Given the description of an element on the screen output the (x, y) to click on. 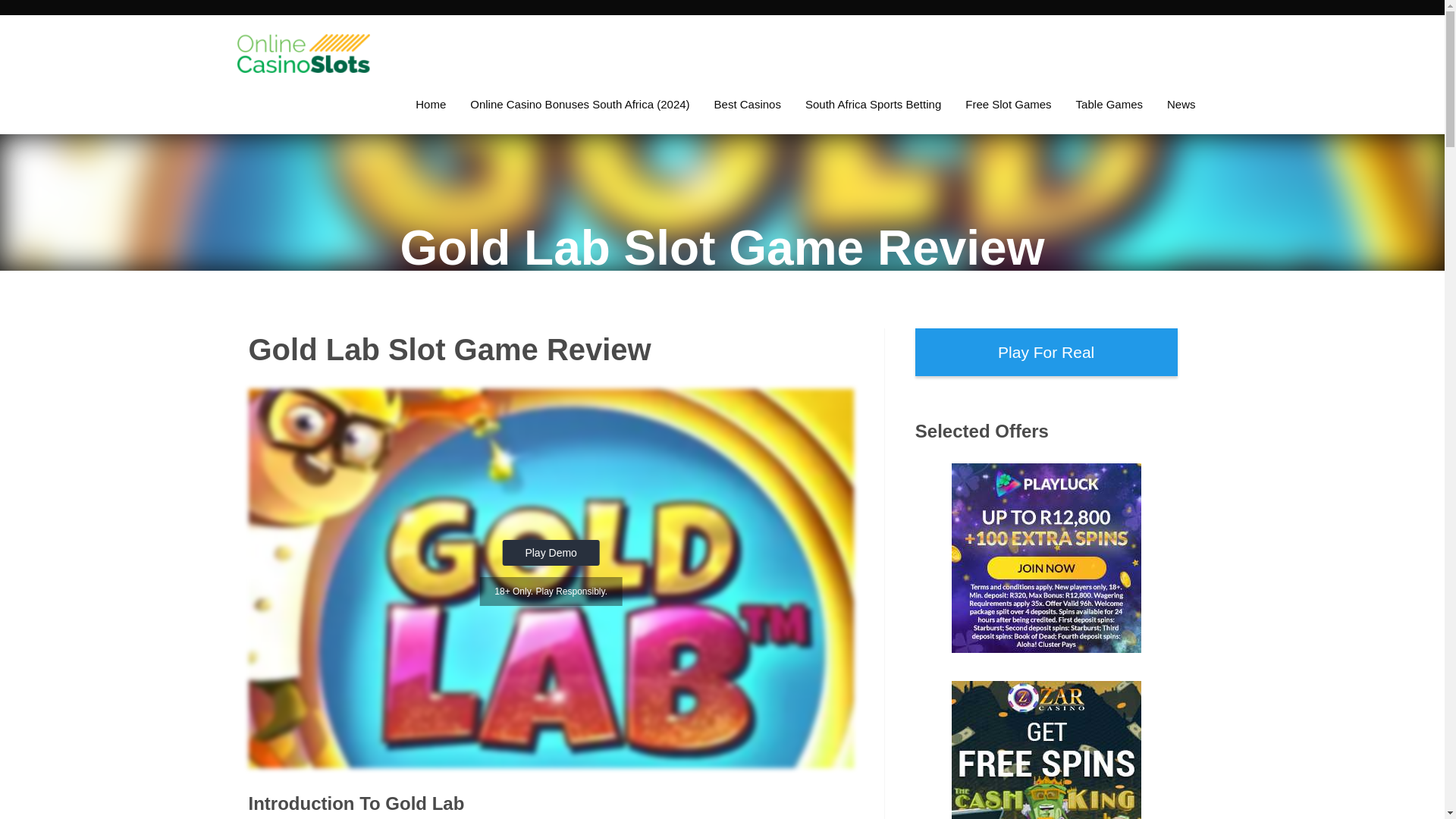
Free Slot Games (1007, 104)
South Africa Sports Betting (873, 104)
Home (430, 104)
Casino Reviews (747, 104)
Table Games (1109, 104)
Best Casinos (747, 104)
Demo Games Lobby (1007, 104)
